Given the description of an element on the screen output the (x, y) to click on. 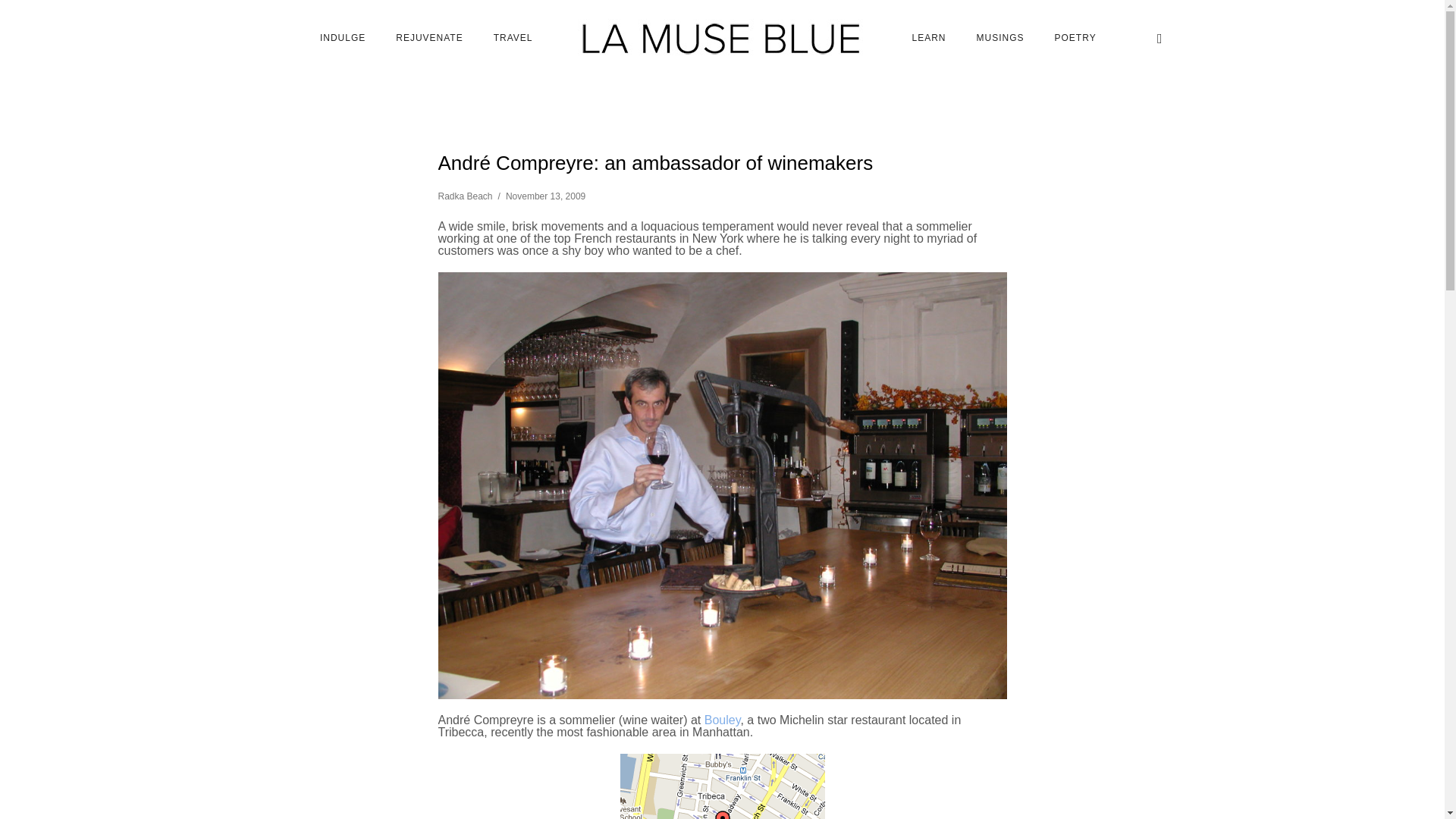
INDULGE (342, 37)
Rejuvenate (428, 37)
TRAVEL (513, 37)
POETRY (1075, 37)
MUSINGS (999, 37)
Indulge (342, 37)
LEARN (928, 37)
REJUVENATE (428, 37)
